Given the description of an element on the screen output the (x, y) to click on. 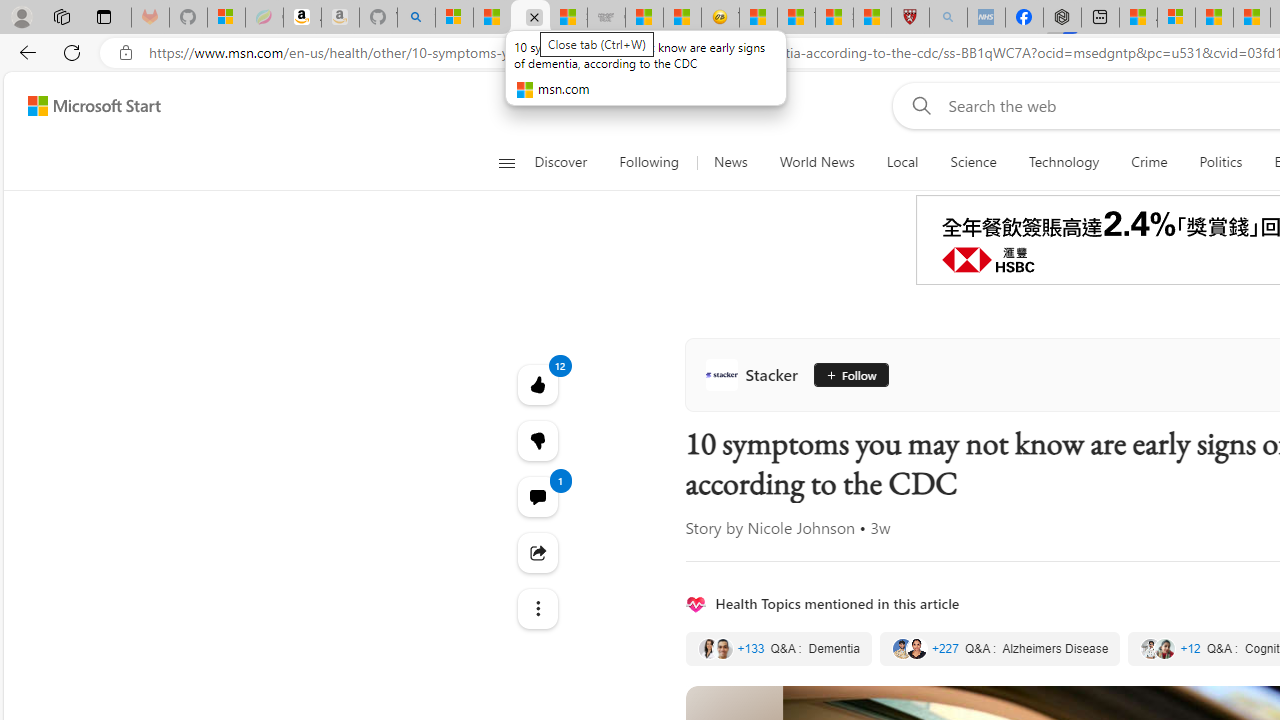
Skip to content (86, 105)
Crime (1149, 162)
New tab (1099, 17)
Discover (560, 162)
Dislike (537, 440)
View comments 1 Comment (537, 496)
World News (817, 162)
12 Popular Science Lies that Must be Corrected (871, 17)
Technology (1063, 162)
Recipes - MSN (757, 17)
